Given the description of an element on the screen output the (x, y) to click on. 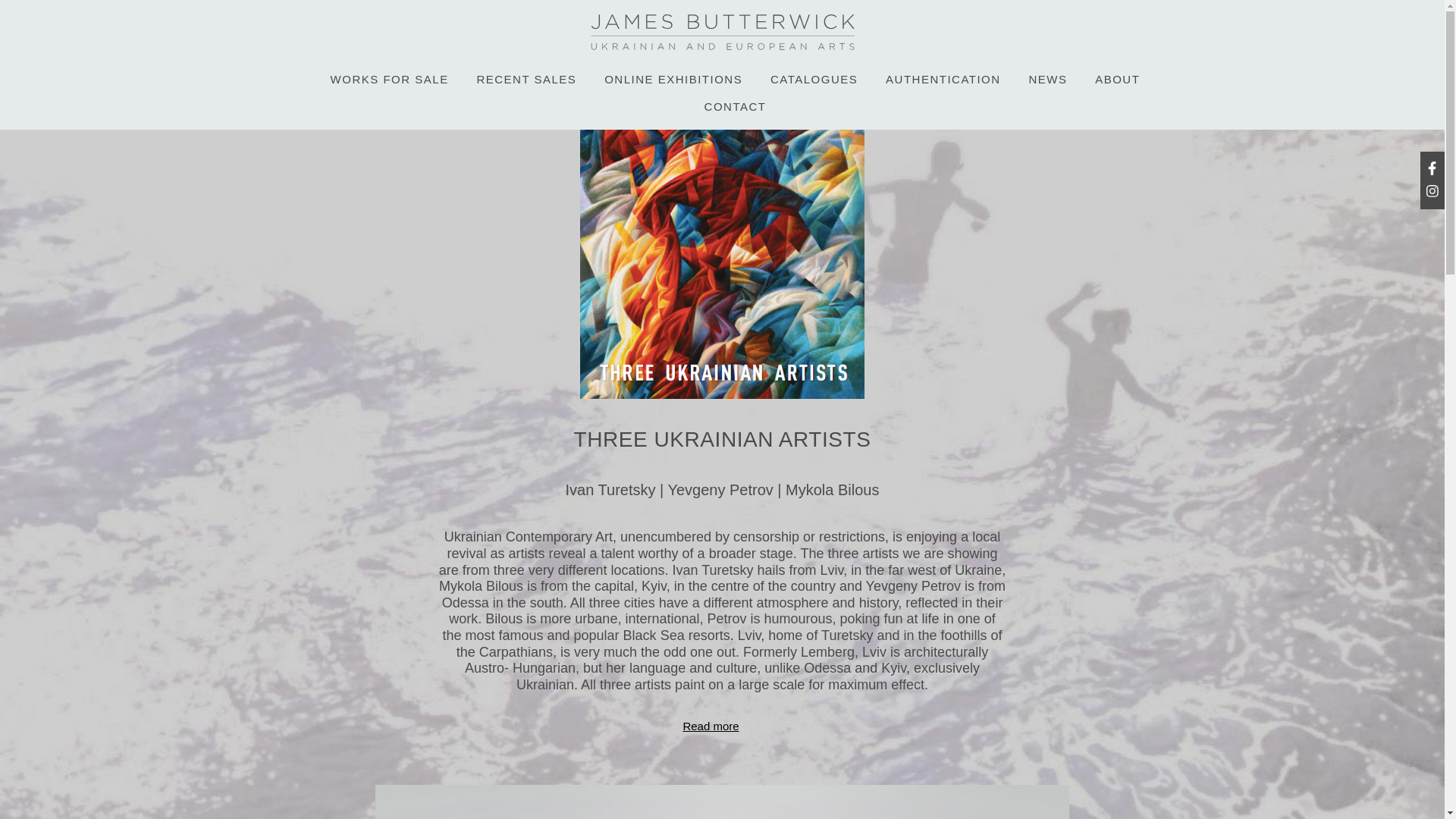
NEWS (1047, 78)
CATALOGUES (813, 78)
RECENT SALES (526, 78)
WORKS FOR SALE (389, 78)
CONTACT (735, 106)
ONLINE EXHIBITIONS (673, 78)
ABOUT (1117, 78)
AUTHENTICATION (943, 78)
Read more (710, 725)
